Given the description of an element on the screen output the (x, y) to click on. 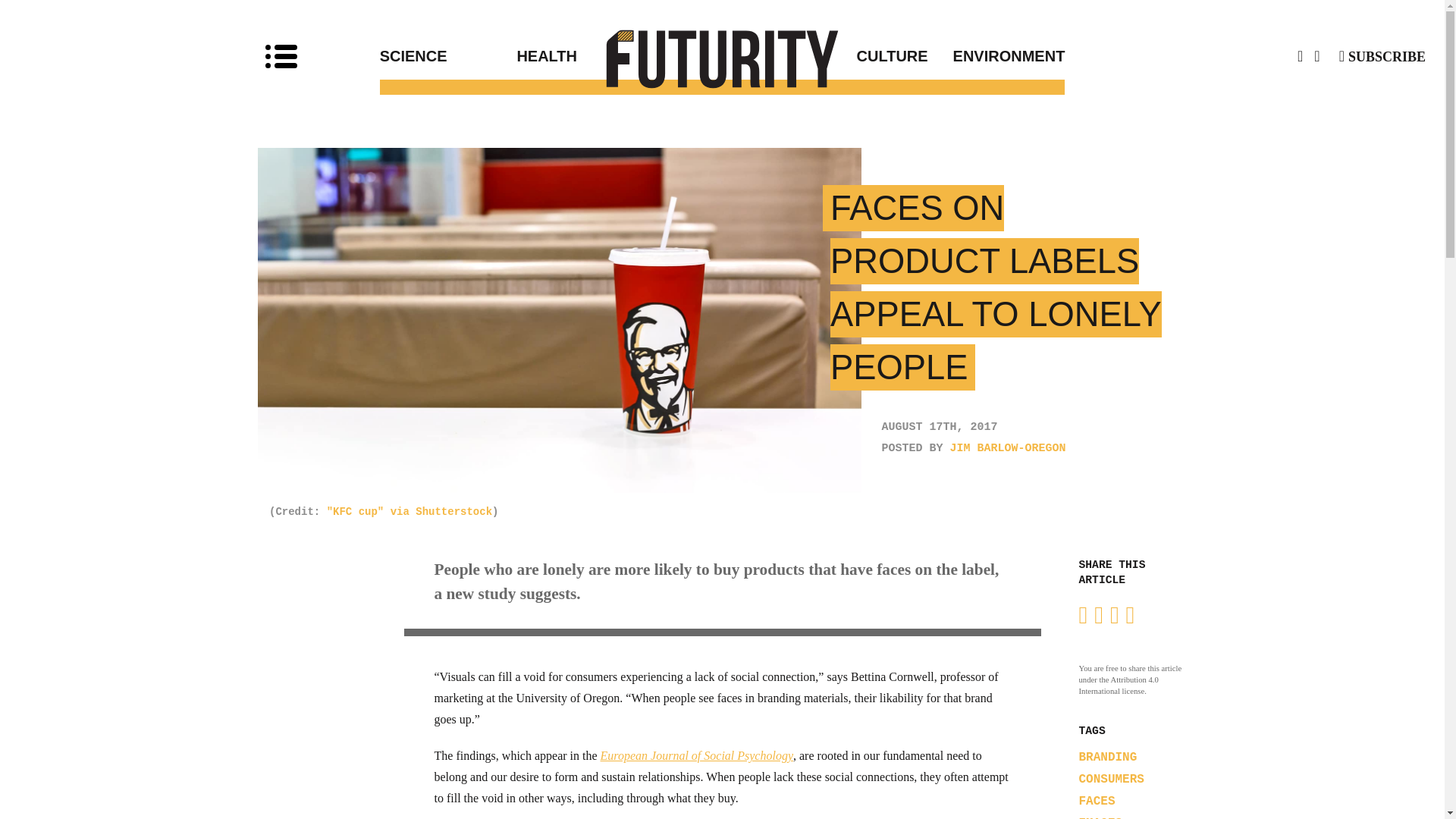
Culture (824, 55)
FACES (1096, 801)
HEALTH (619, 55)
Environment (996, 55)
Health (619, 55)
ENVIRONMENT (996, 55)
SUBSCRIBE (1382, 56)
CONSUMERS (1110, 779)
CULTURE (824, 55)
IMAGES (1100, 817)
Science (448, 55)
SCIENCE (448, 55)
JIM BARLOW-OREGON (1007, 448)
Research news from top universities (722, 58)
"KFC cup" via Shutterstock (409, 511)
